Given the description of an element on the screen output the (x, y) to click on. 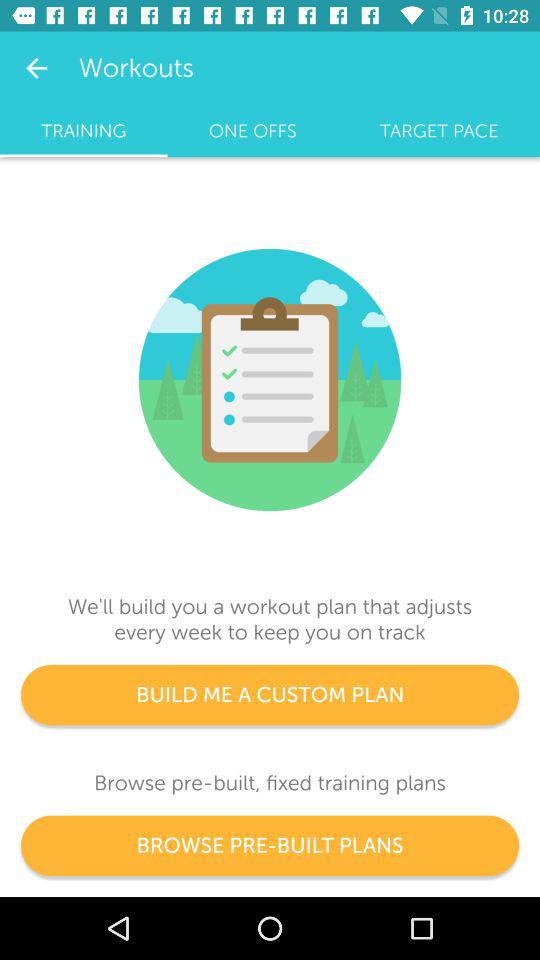
choose the icon above the training (36, 68)
